Given the description of an element on the screen output the (x, y) to click on. 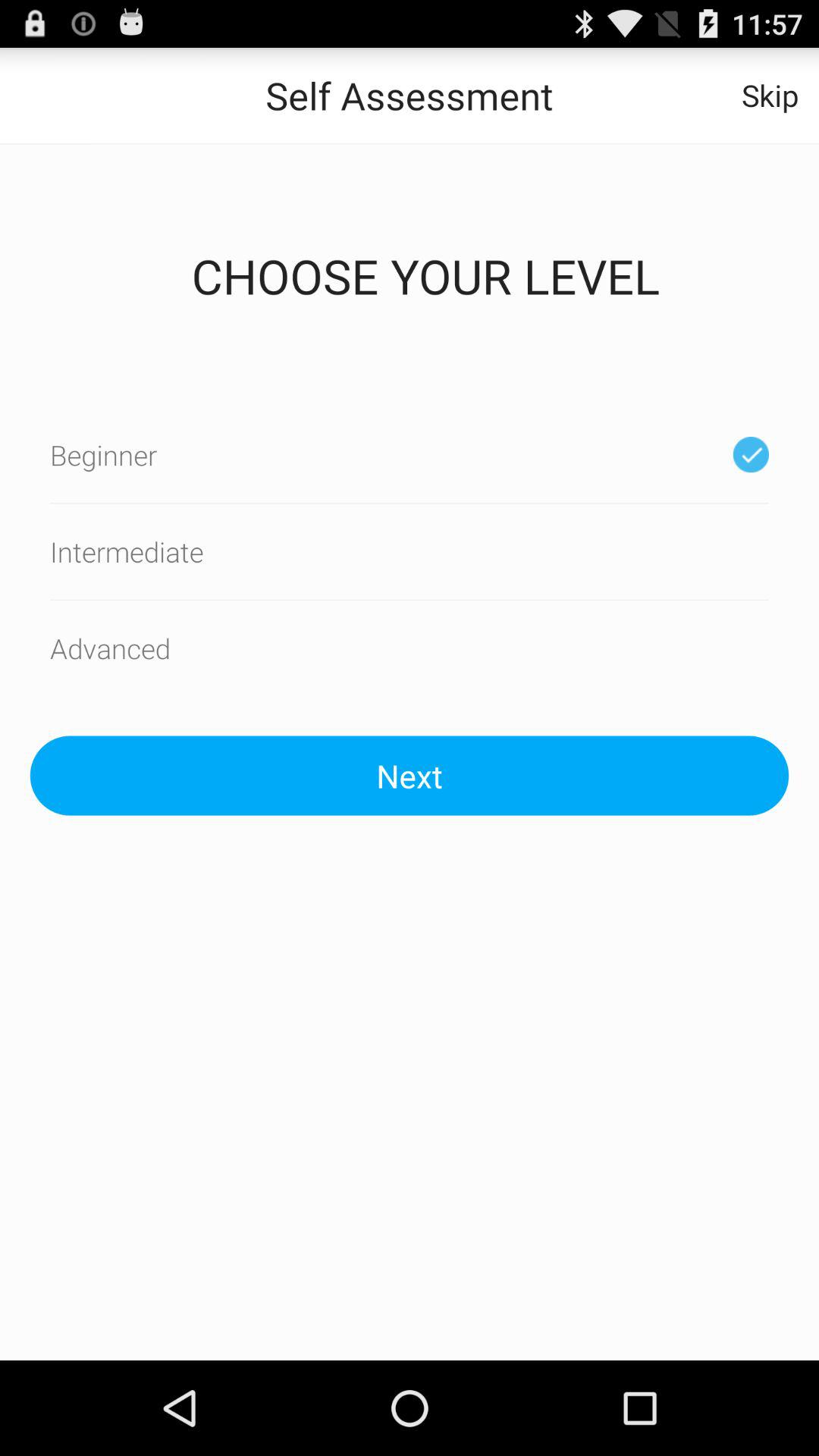
turn off the next icon (409, 775)
